Given the description of an element on the screen output the (x, y) to click on. 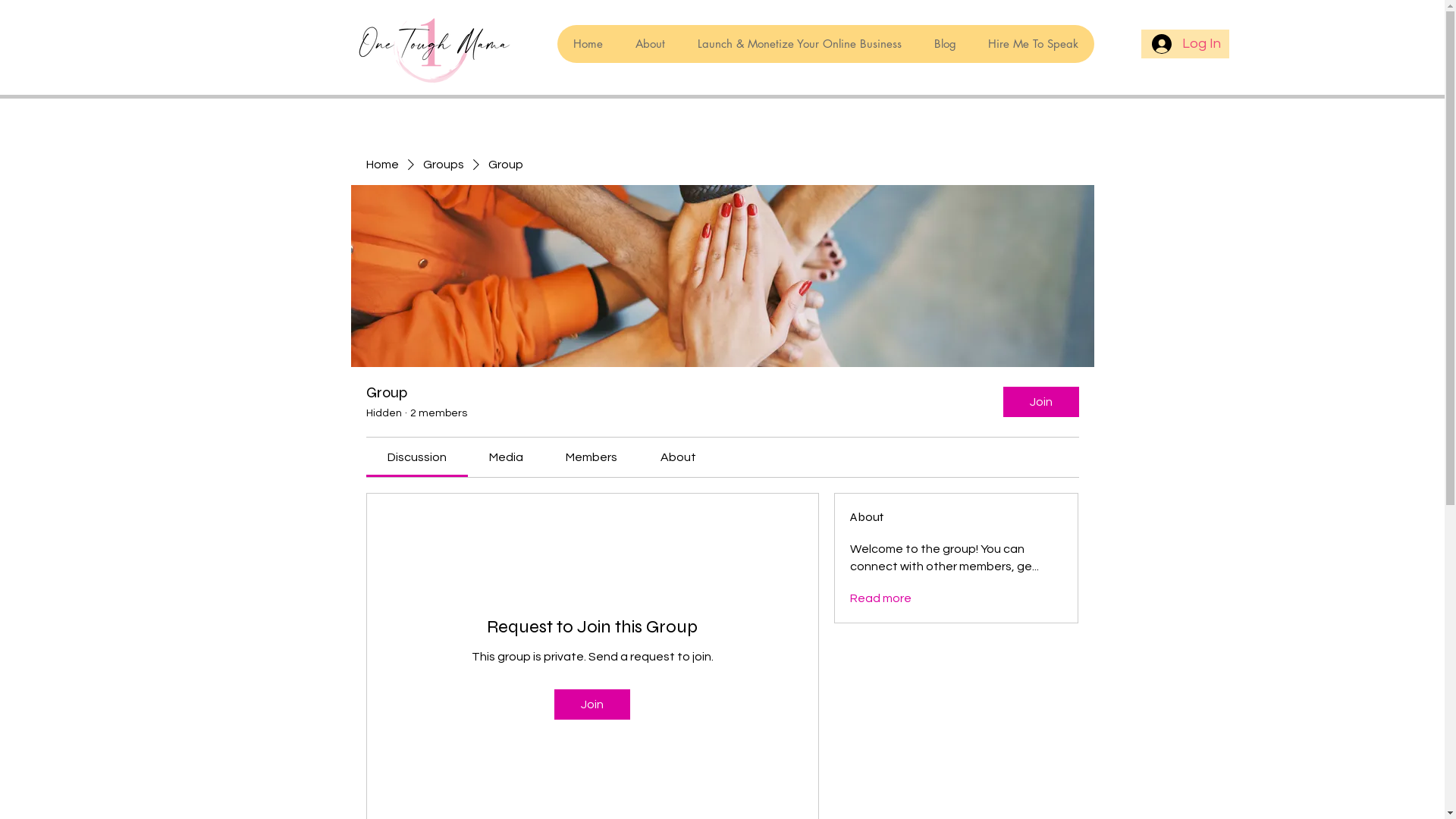
Log In Element type: text (1184, 43)
Hire Me To Speak Element type: text (1033, 43)
Read more Element type: text (880, 597)
Join Element type: text (592, 704)
Launch & Monetize Your Online Business Element type: text (798, 43)
Join Element type: text (1040, 401)
Blog Element type: text (944, 43)
Home Element type: text (587, 43)
Conversion Popup Element type: hover (726, 342)
About Element type: text (649, 43)
Home Element type: text (381, 164)
Groups Element type: text (443, 164)
Conversion Popup Element type: hover (722, 15)
